Given the description of an element on the screen output the (x, y) to click on. 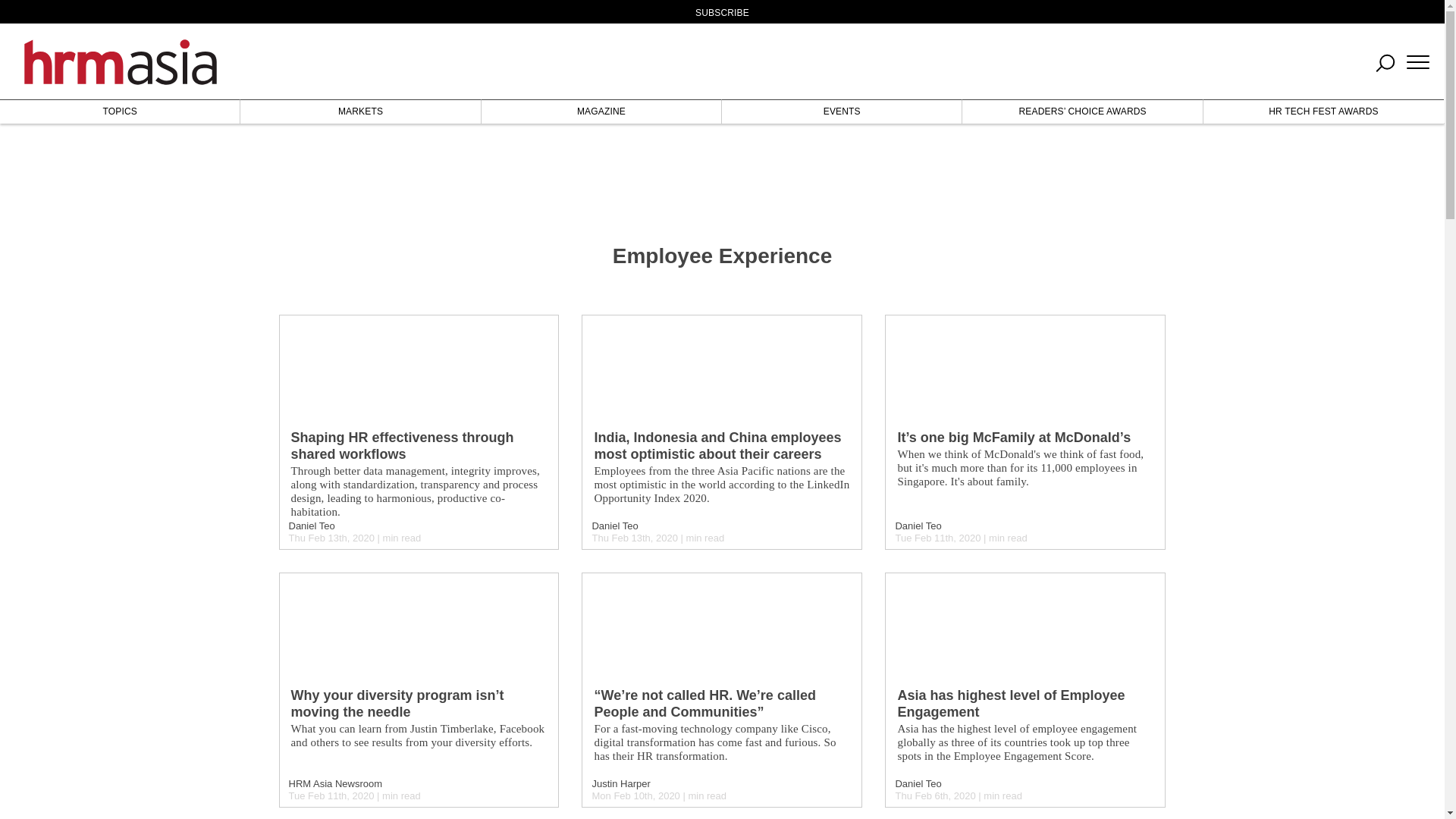
MAGAZINE (600, 111)
HR TECH FEST AWARDS (1324, 111)
EVENTS (841, 111)
SUBSCRIBE (722, 11)
TOPICS (120, 111)
MARKETS (360, 111)
